Given the description of an element on the screen output the (x, y) to click on. 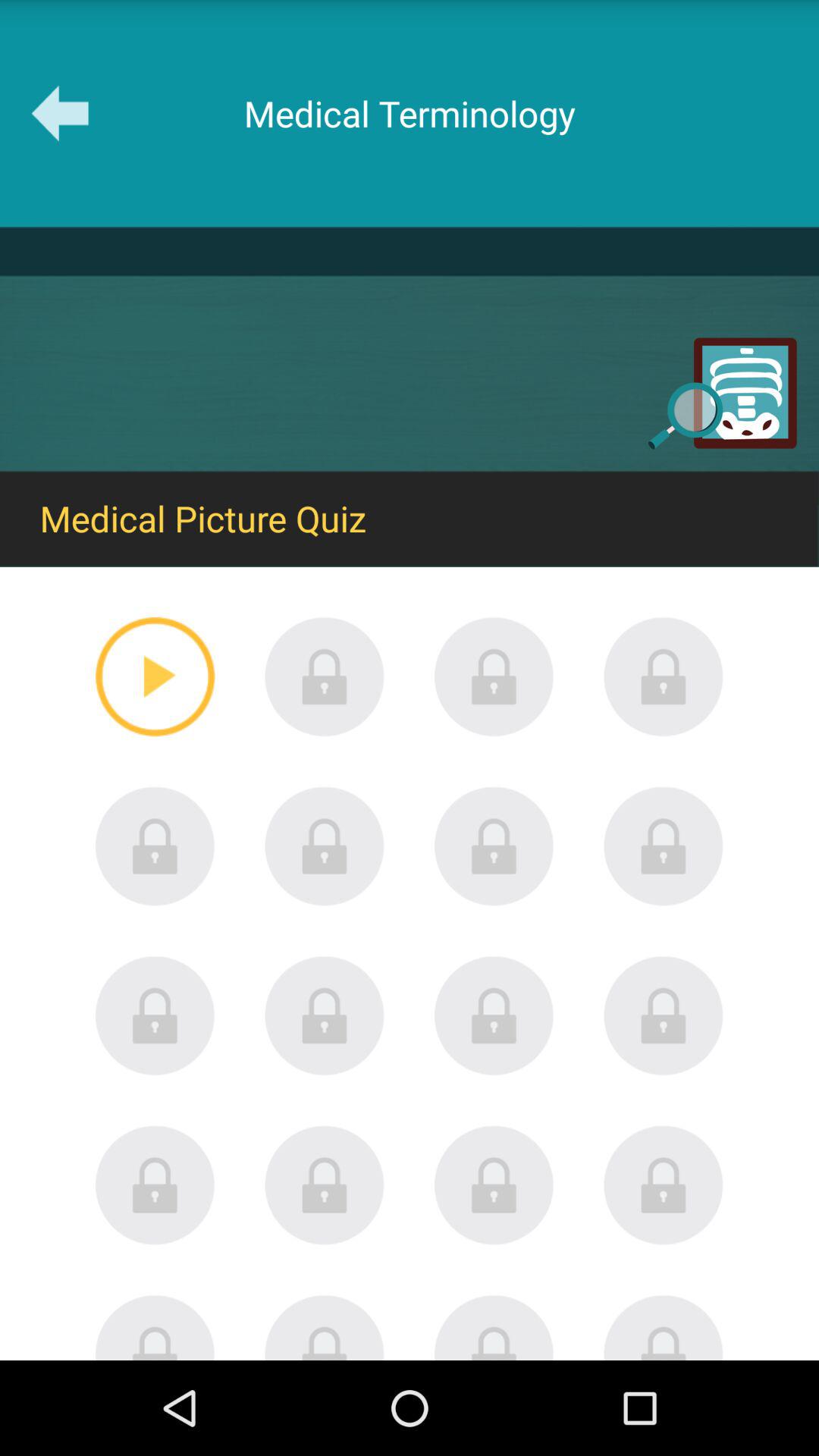
come back (493, 1327)
